Given the description of an element on the screen output the (x, y) to click on. 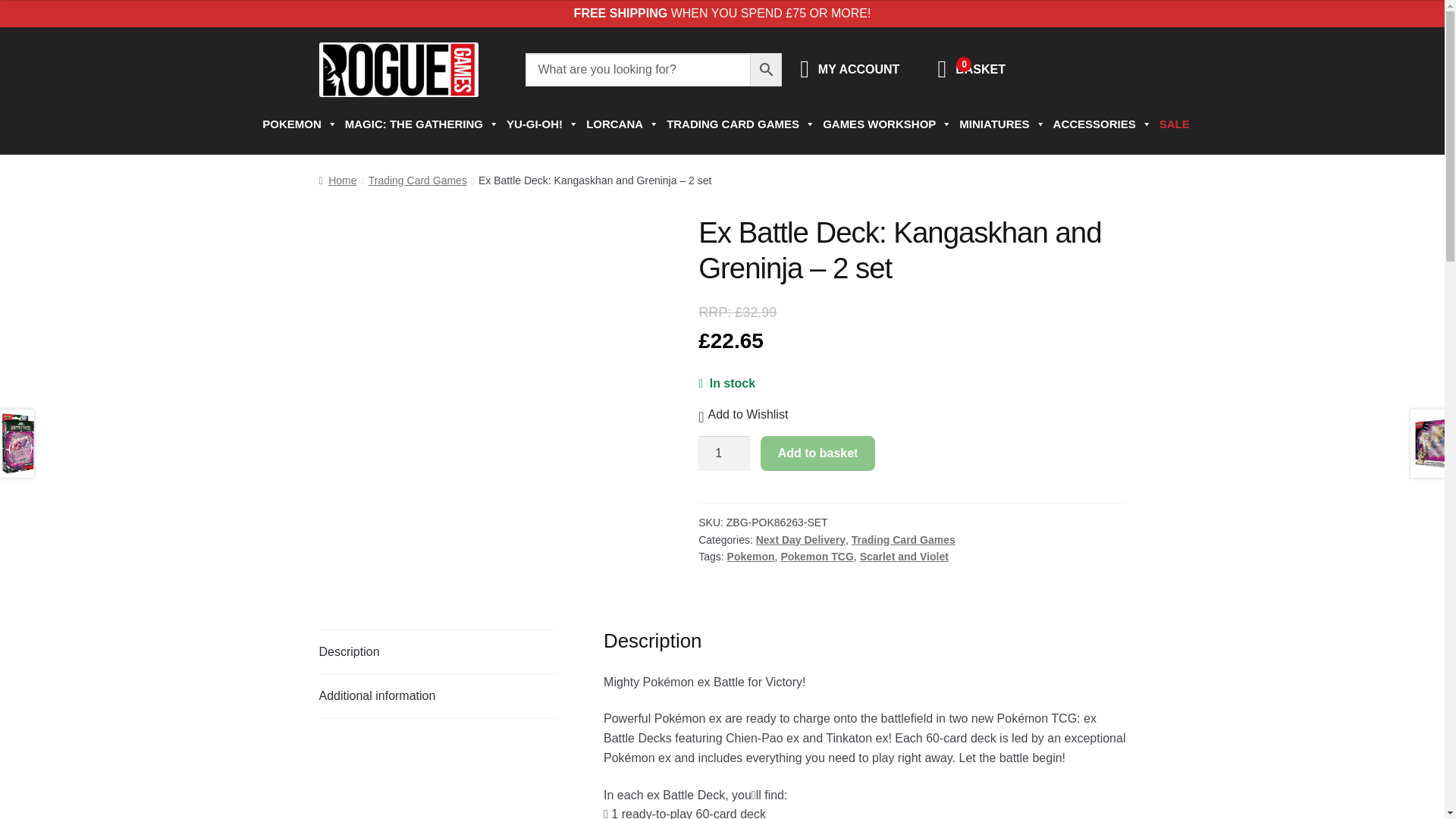
BASKET (980, 69)
Qty (723, 452)
POKEMON (295, 123)
MY ACCOUNT (858, 69)
1 (723, 452)
View your shopping basket (980, 69)
MAGIC: THE GATHERING (418, 123)
